Given the description of an element on the screen output the (x, y) to click on. 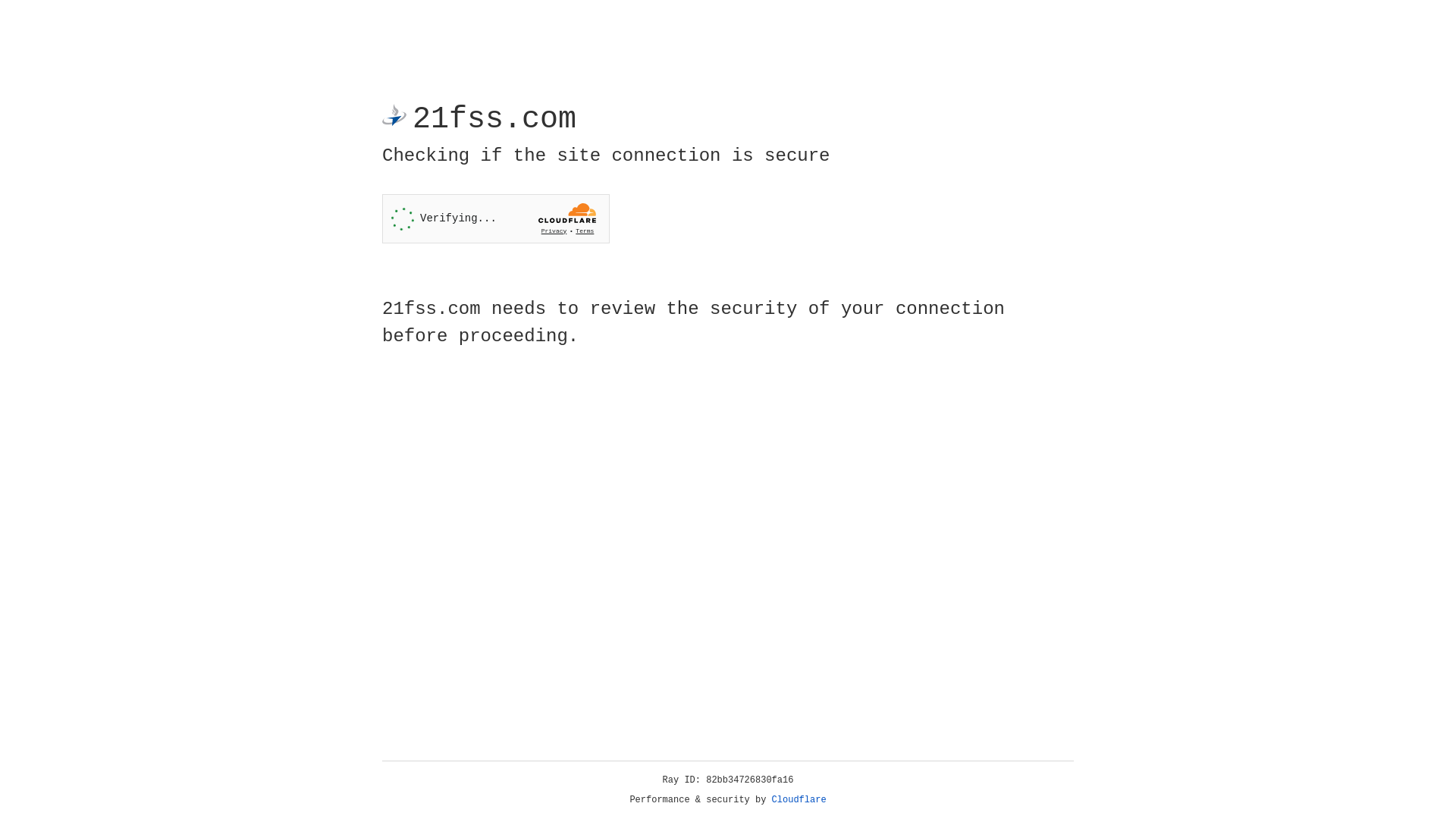
Widget containing a Cloudflare security challenge Element type: hover (495, 218)
Cloudflare Element type: text (798, 799)
